Given the description of an element on the screen output the (x, y) to click on. 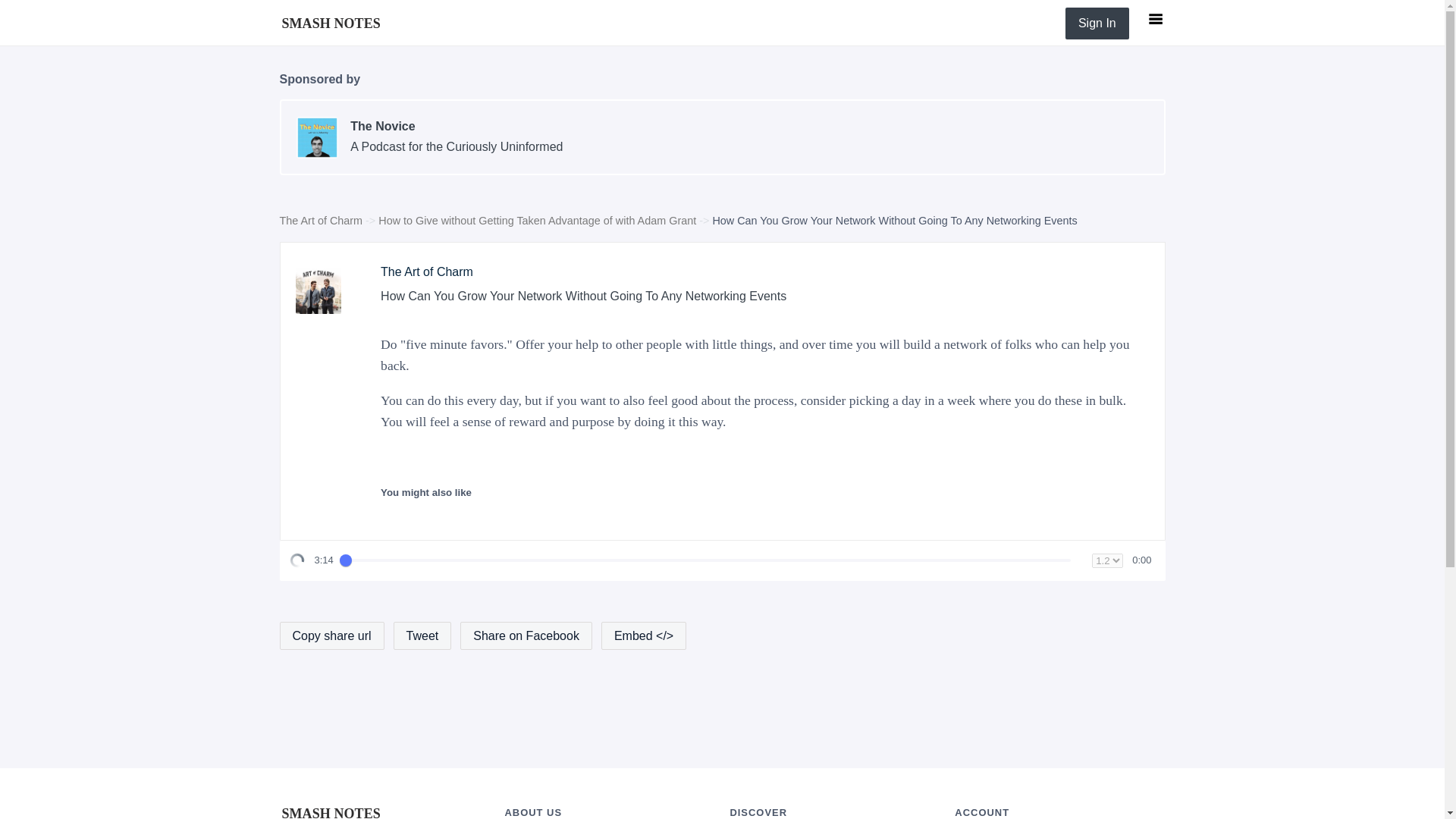
Sign In (1097, 23)
Play The Art of Charm on Smash Notes (317, 290)
The Art of Charm (320, 220)
The Art of Charm? (331, 22)
Share on Facebook (320, 220)
Smash Notes - Podcast summaries, transcripts and notes. (526, 635)
